Given the description of an element on the screen output the (x, y) to click on. 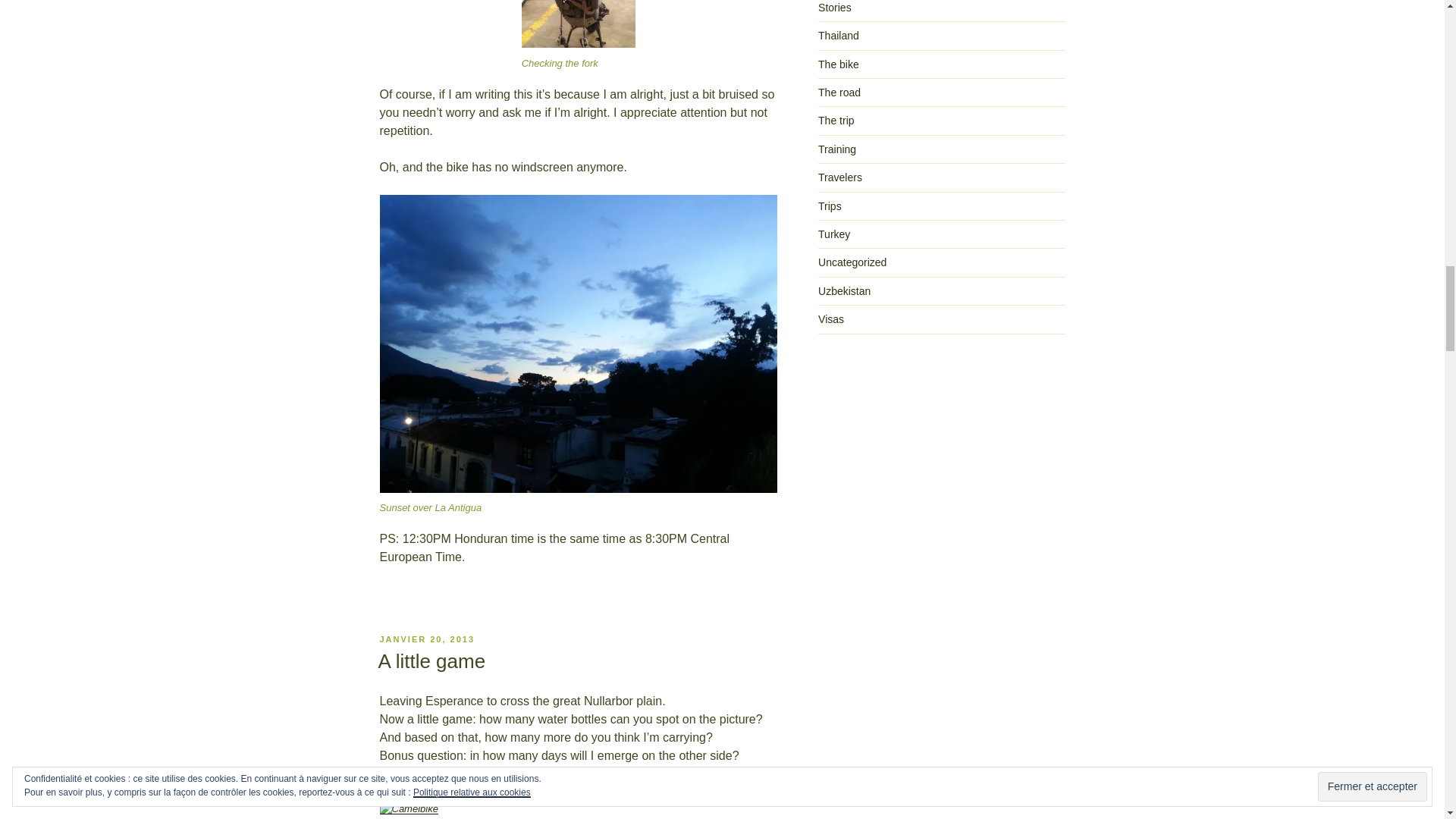
A little game (430, 661)
JANVIER 20, 2013 (426, 638)
Water loaded (408, 808)
